Given the description of an element on the screen output the (x, y) to click on. 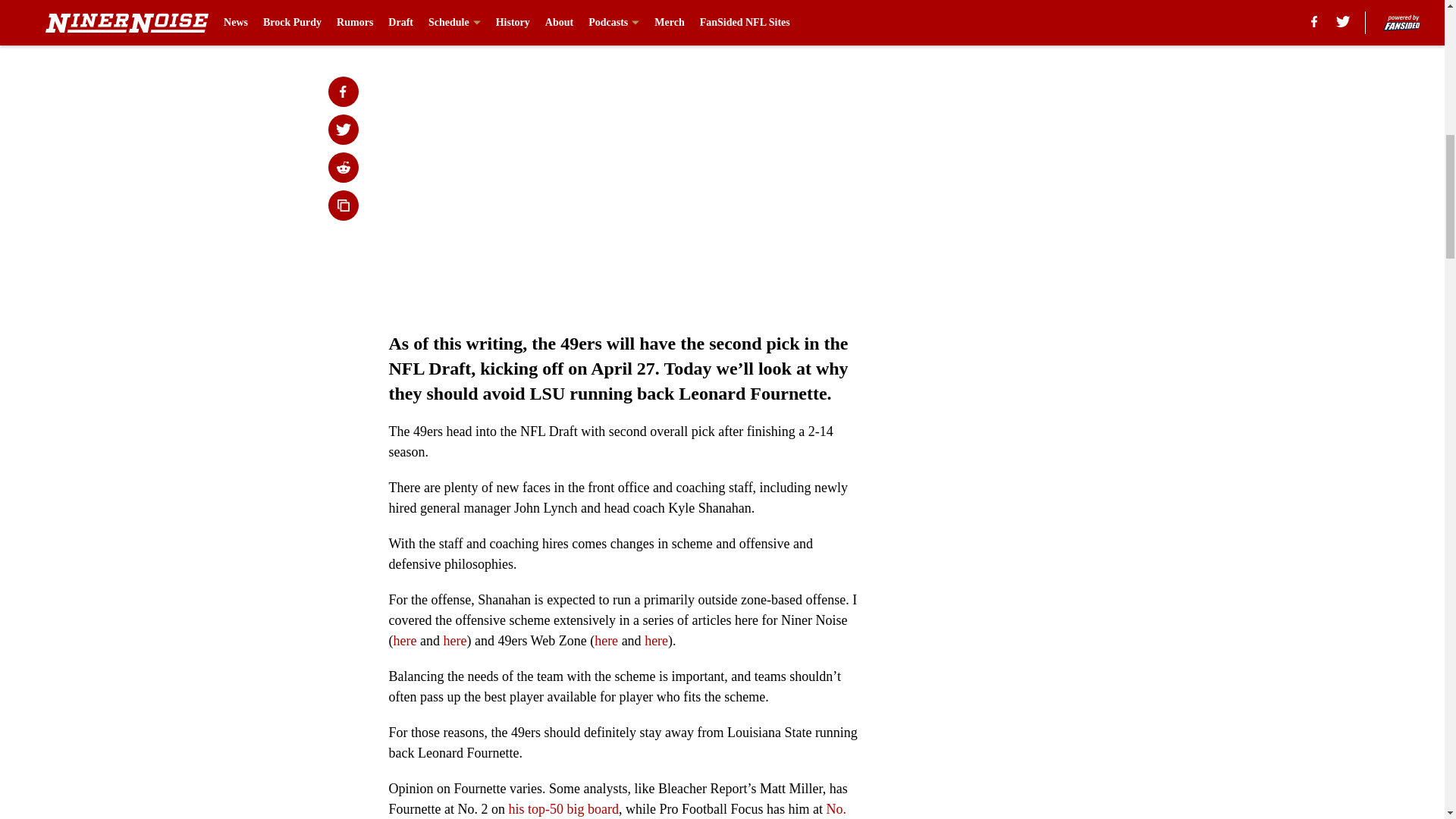
No. 23 on theirs (616, 810)
his top-50 big board (563, 808)
here (453, 640)
here (605, 640)
here (656, 640)
here (404, 640)
